Given the description of an element on the screen output the (x, y) to click on. 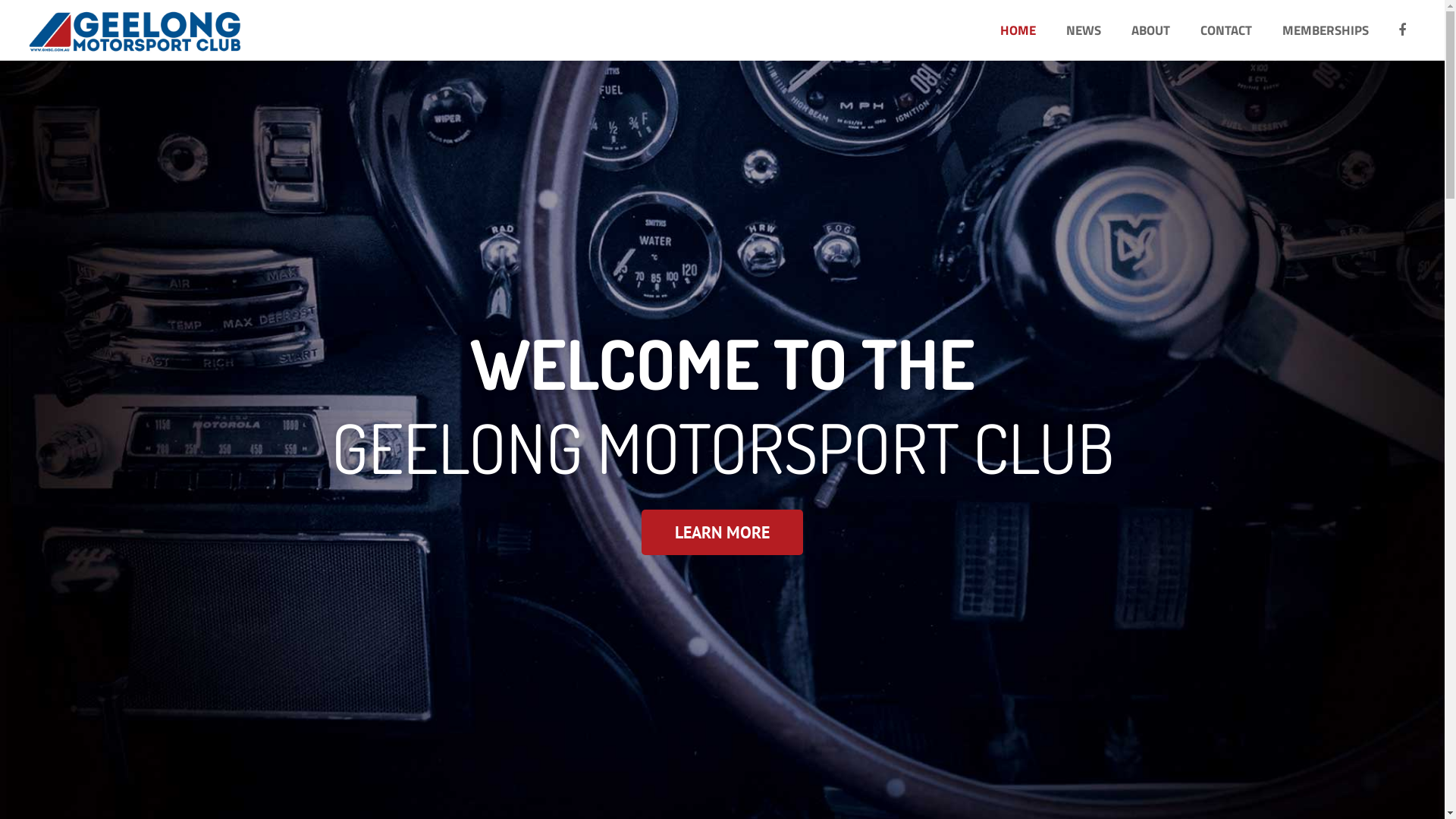
ABOUT Element type: text (1150, 30)
CONTACT Element type: text (1226, 30)
LEARN MORE Element type: text (722, 532)
NEWS Element type: text (1083, 30)
MEMBERSHIPS Element type: text (1325, 30)
HOME Element type: text (1018, 30)
